Given the description of an element on the screen output the (x, y) to click on. 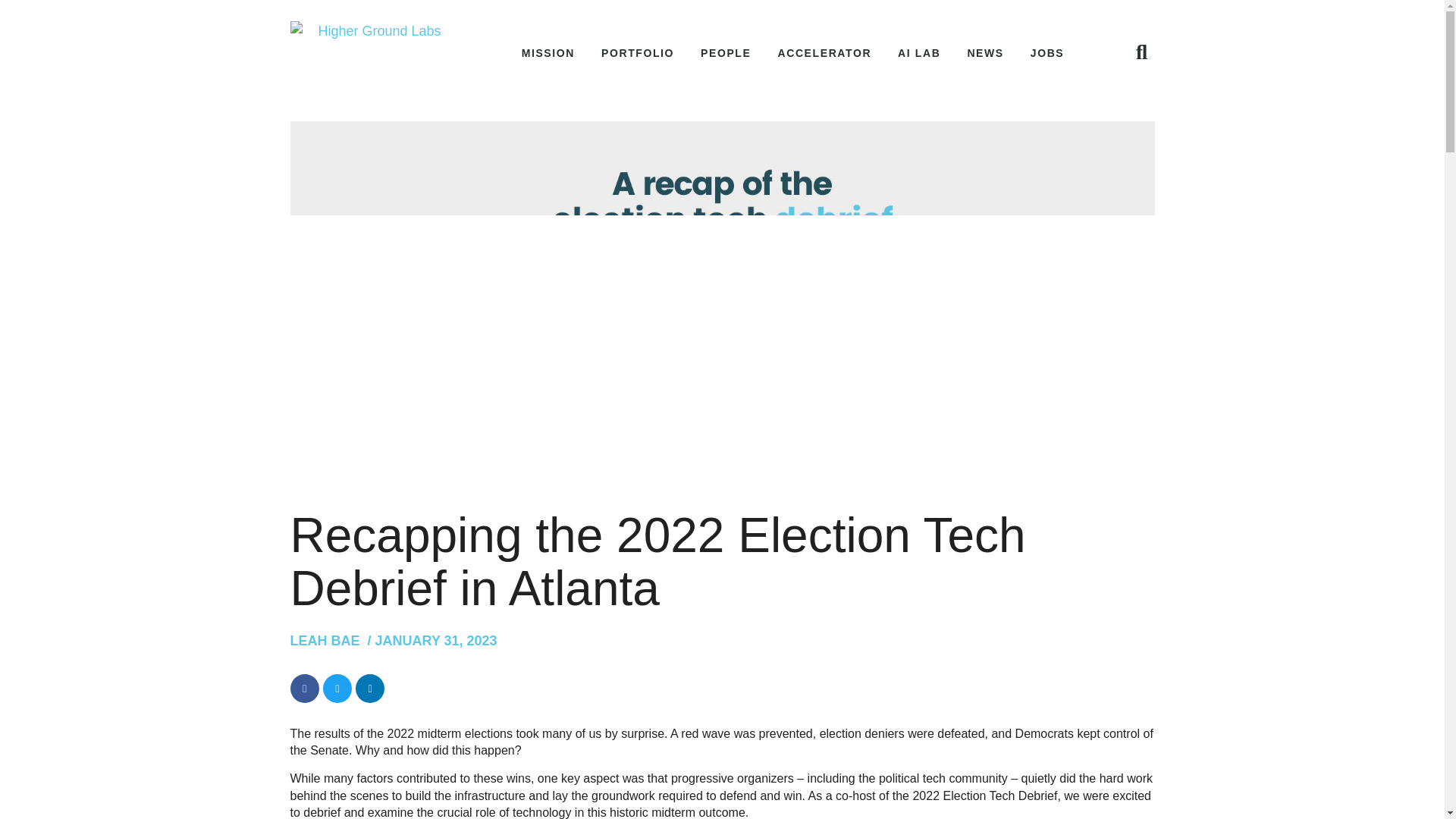
AI LAB (919, 52)
PEOPLE (725, 52)
MISSION (548, 52)
ACCELERATOR (823, 52)
JOBS (1047, 52)
NEWS (984, 52)
PORTFOLIO (637, 52)
